Given the description of an element on the screen output the (x, y) to click on. 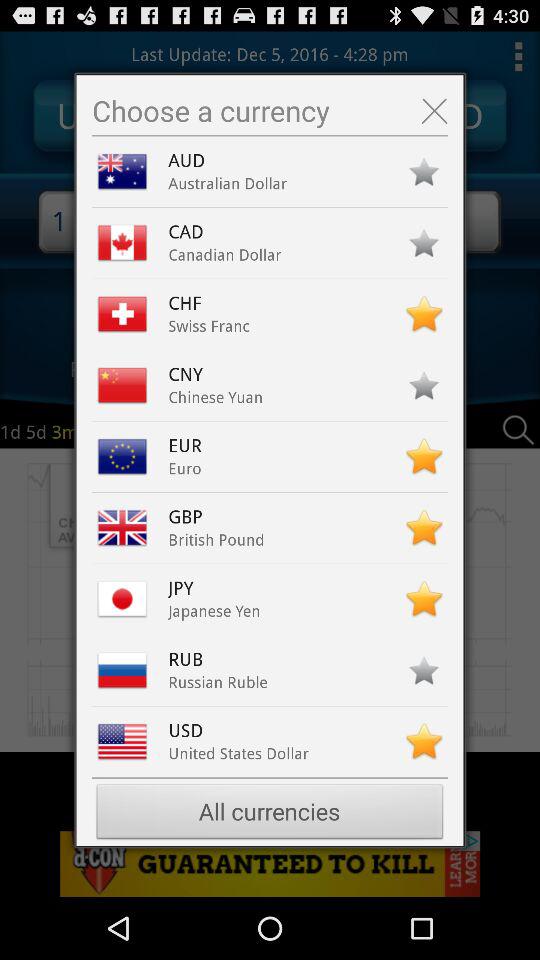
turn off the app below british pound icon (189, 588)
